Given the description of an element on the screen output the (x, y) to click on. 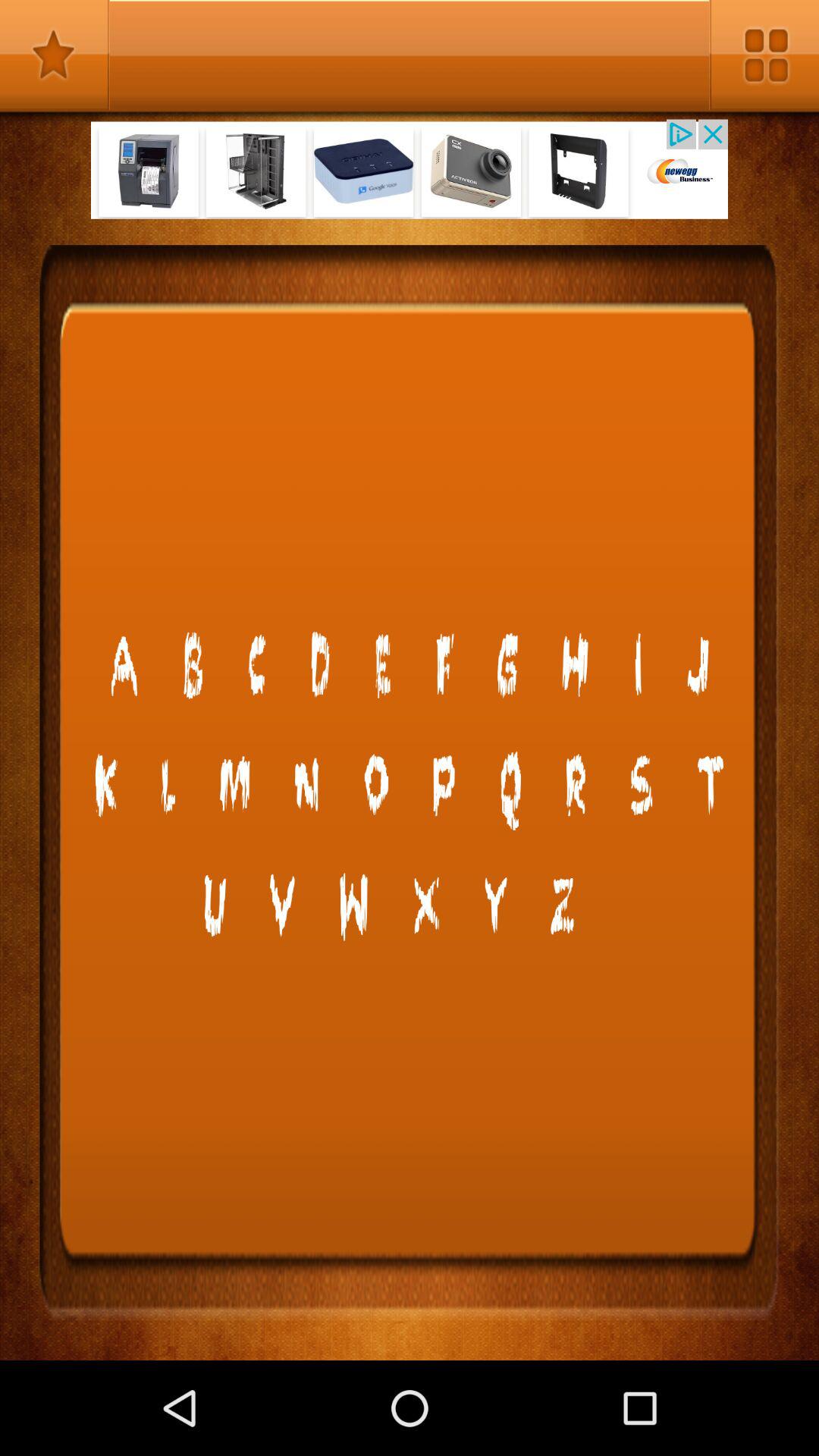
advertisement (409, 168)
